Given the description of an element on the screen output the (x, y) to click on. 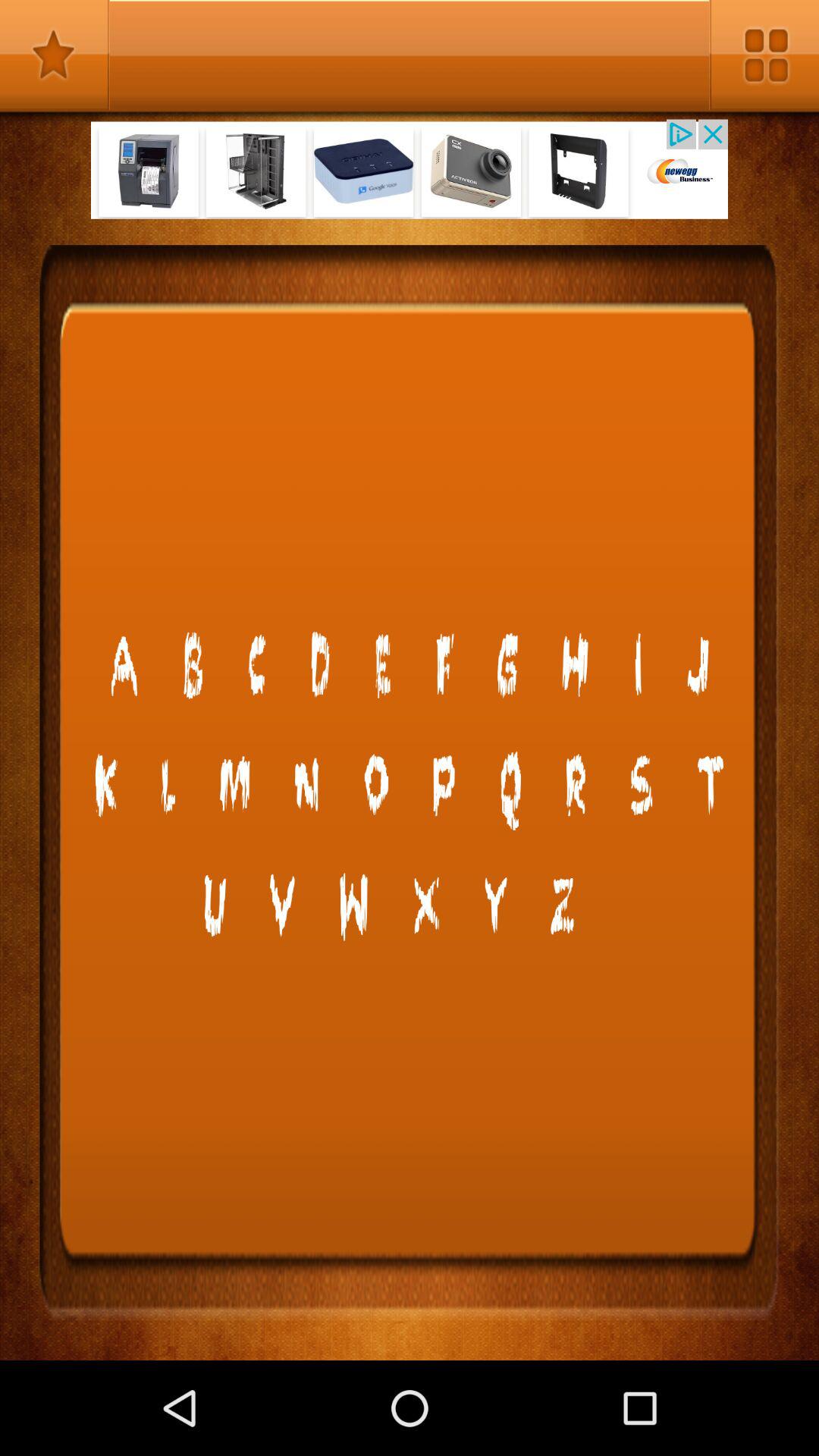
advertisement (409, 168)
